Given the description of an element on the screen output the (x, y) to click on. 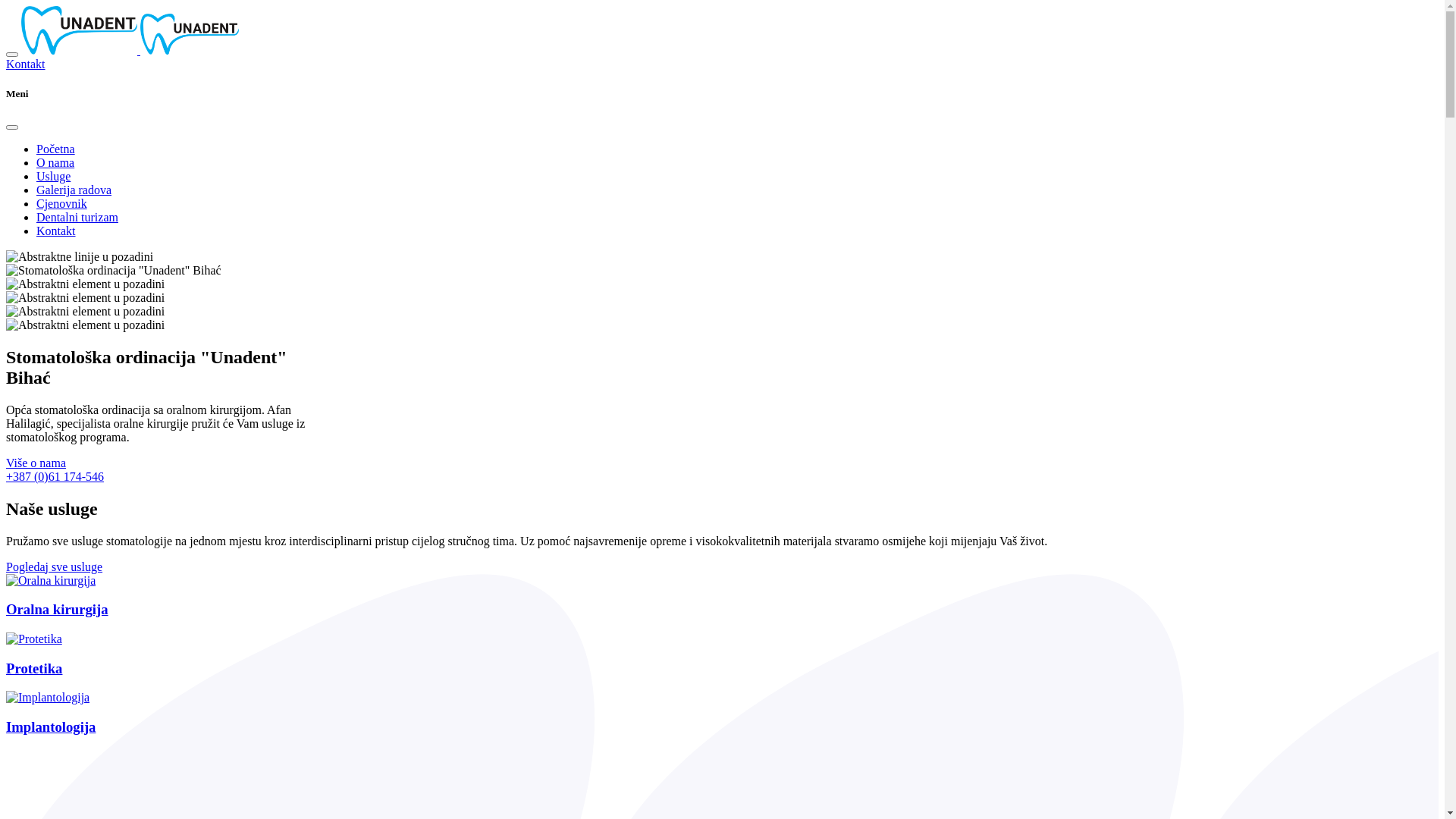
Kontakt Element type: text (55, 230)
Kontakt Element type: text (25, 63)
Implantologija Element type: text (237, 712)
+387 (0)61 174-546 Element type: text (54, 476)
Cjenovnik Element type: text (61, 203)
Oralna kirurgija Element type: text (237, 596)
Dentalni turizam Element type: text (77, 216)
Protetika Element type: text (237, 654)
Usluge Element type: text (53, 175)
Galerija radova Element type: text (73, 189)
Pogledaj sve usluge Element type: text (54, 566)
O nama Element type: text (55, 162)
